Given the description of an element on the screen output the (x, y) to click on. 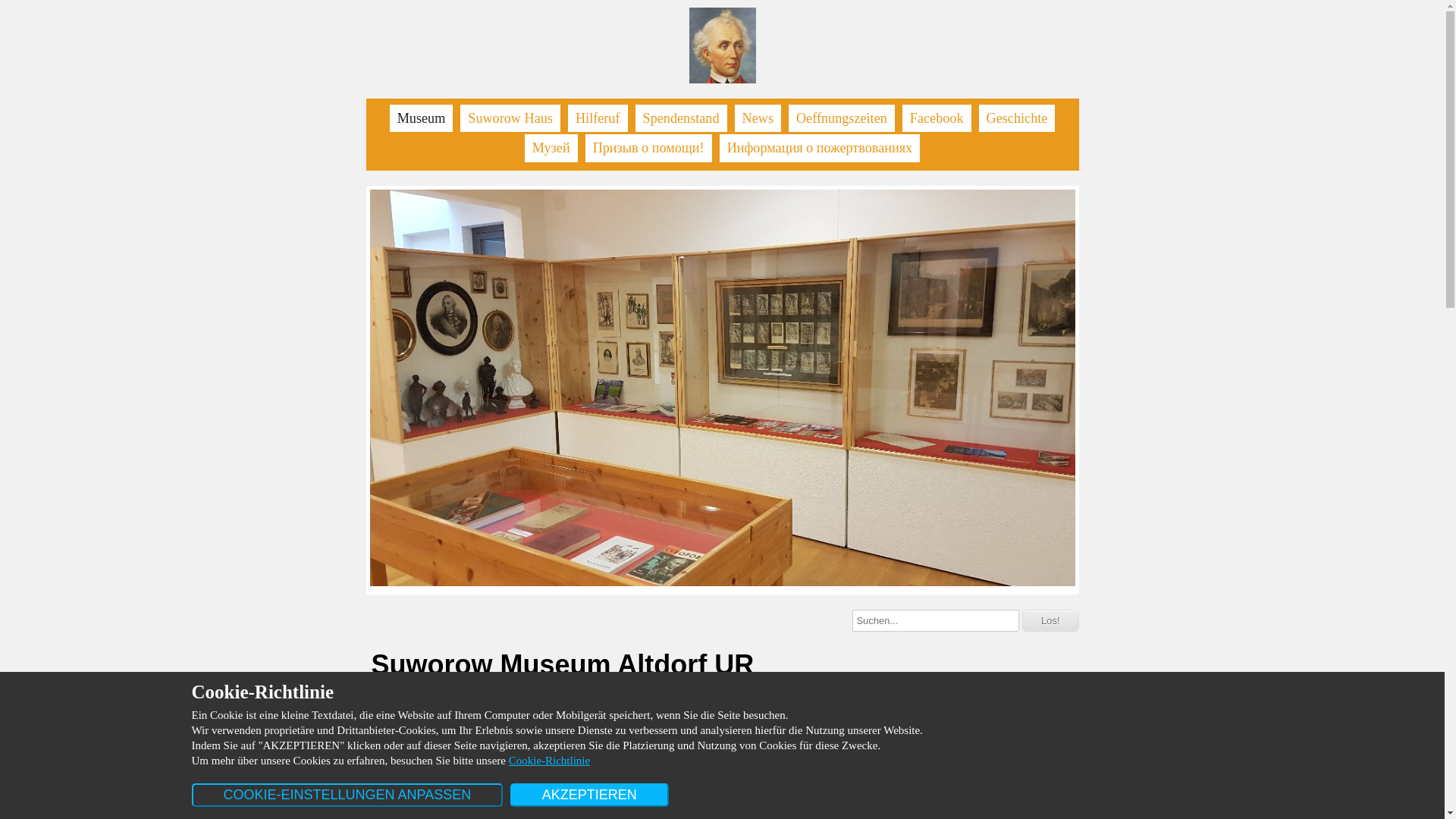
Facebook Element type: text (936, 117)
Suworow Haus Element type: text (510, 117)
AKZEPTIEREN Element type: text (589, 794)
Cookie-Richtlinie Element type: text (548, 760)
Geschichte Element type: text (1017, 117)
News Element type: text (757, 117)
Oeffnungszeiten Element type: text (841, 117)
Los! Element type: text (1050, 620)
Hilferuf Element type: text (597, 117)
Spendenstand Element type: text (681, 117)
Museum Element type: text (421, 117)
COOKIE-EINSTELLUNGEN ANPASSEN Element type: text (346, 794)
